Given the description of an element on the screen output the (x, y) to click on. 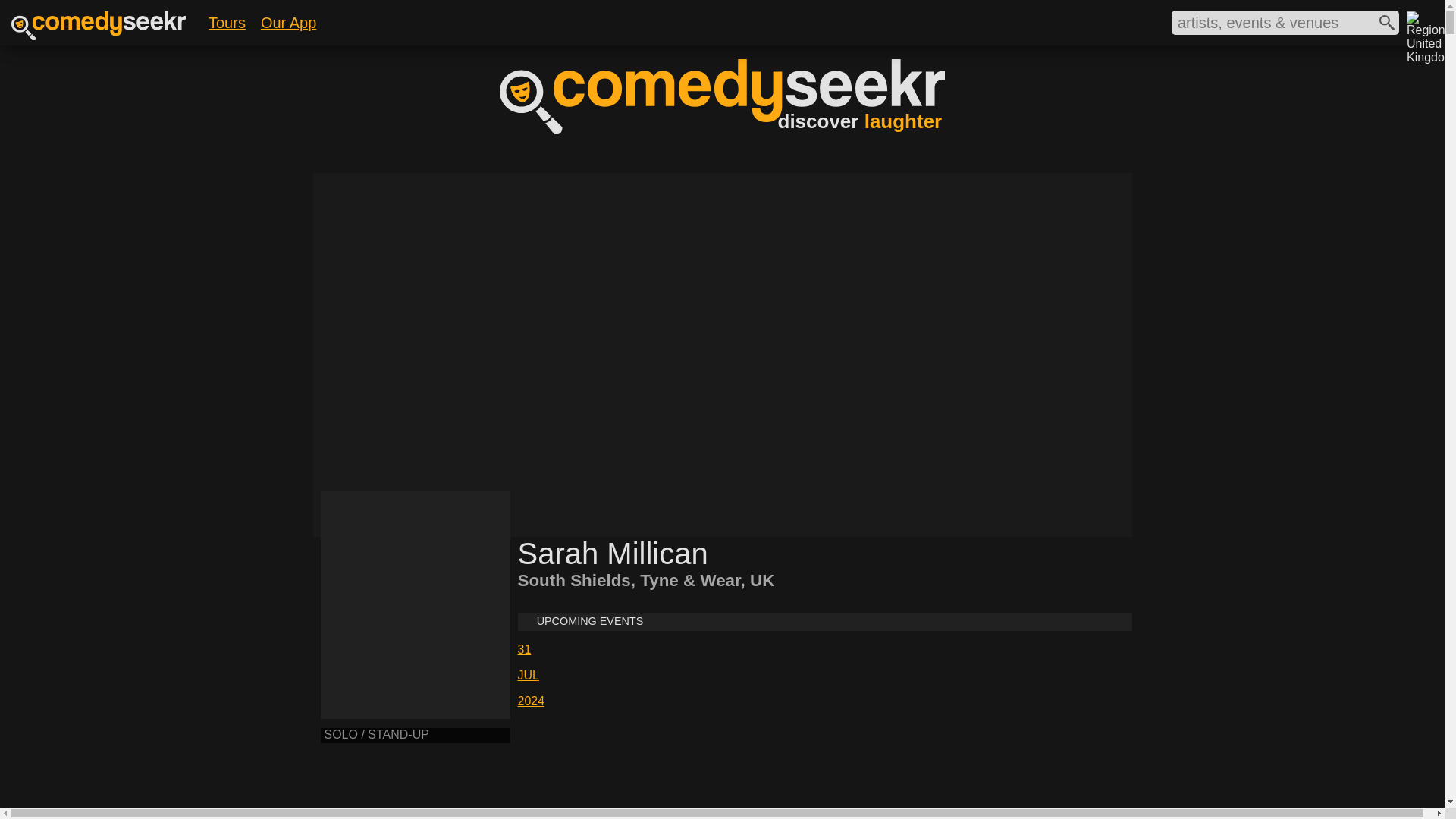
Comedyseekr Logo (98, 35)
Comedyseekr Logo (721, 96)
Our App (287, 21)
Tours (227, 21)
Comedyseekr Logo (98, 25)
